Given the description of an element on the screen output the (x, y) to click on. 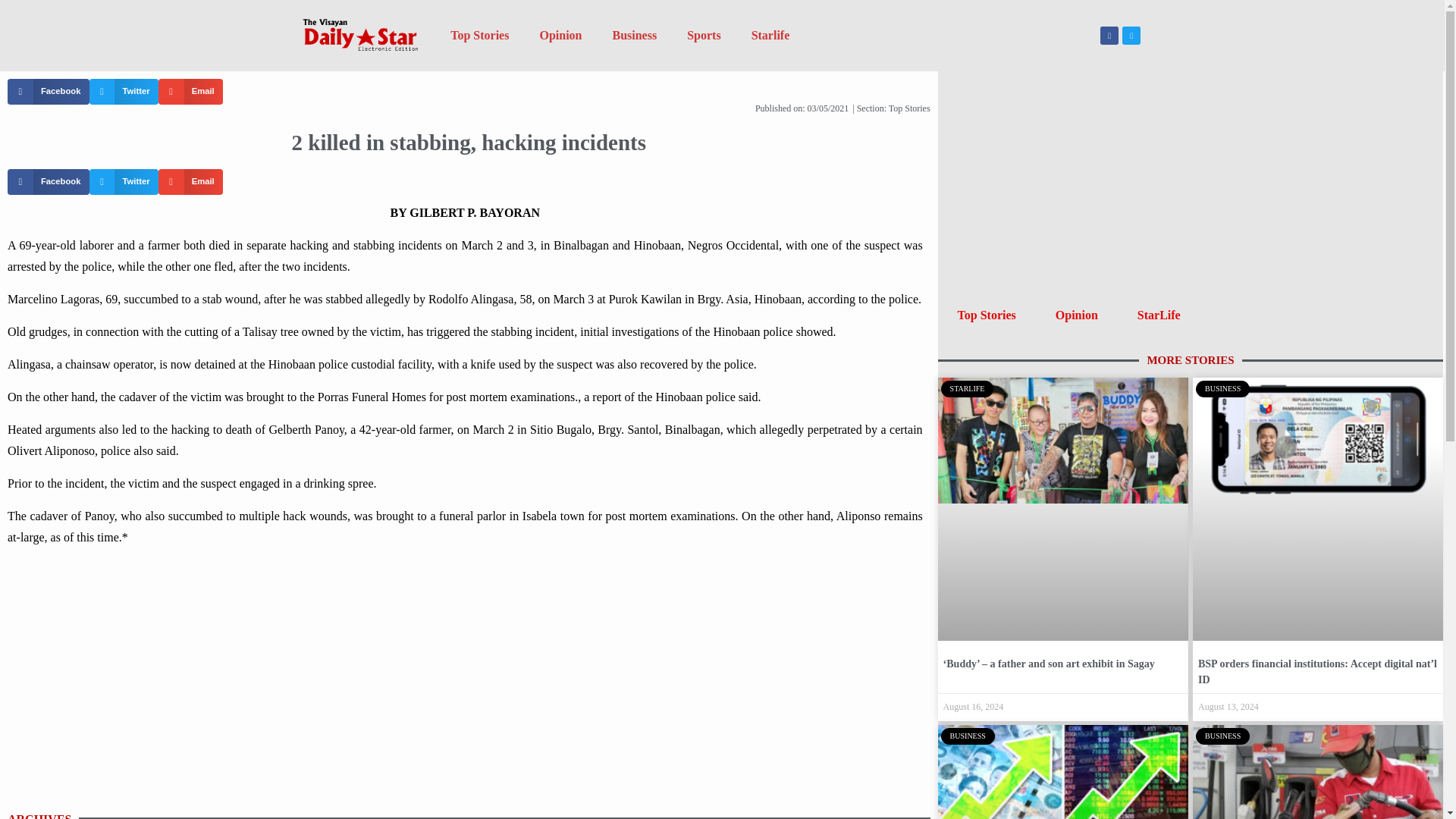
Sports (703, 35)
Top Stories (987, 314)
StarLife (1158, 314)
Opinion (560, 35)
Starlife (770, 35)
Opinion (1076, 314)
Business (633, 35)
Top Stories (479, 35)
Top Stories (909, 108)
